Given the description of an element on the screen output the (x, y) to click on. 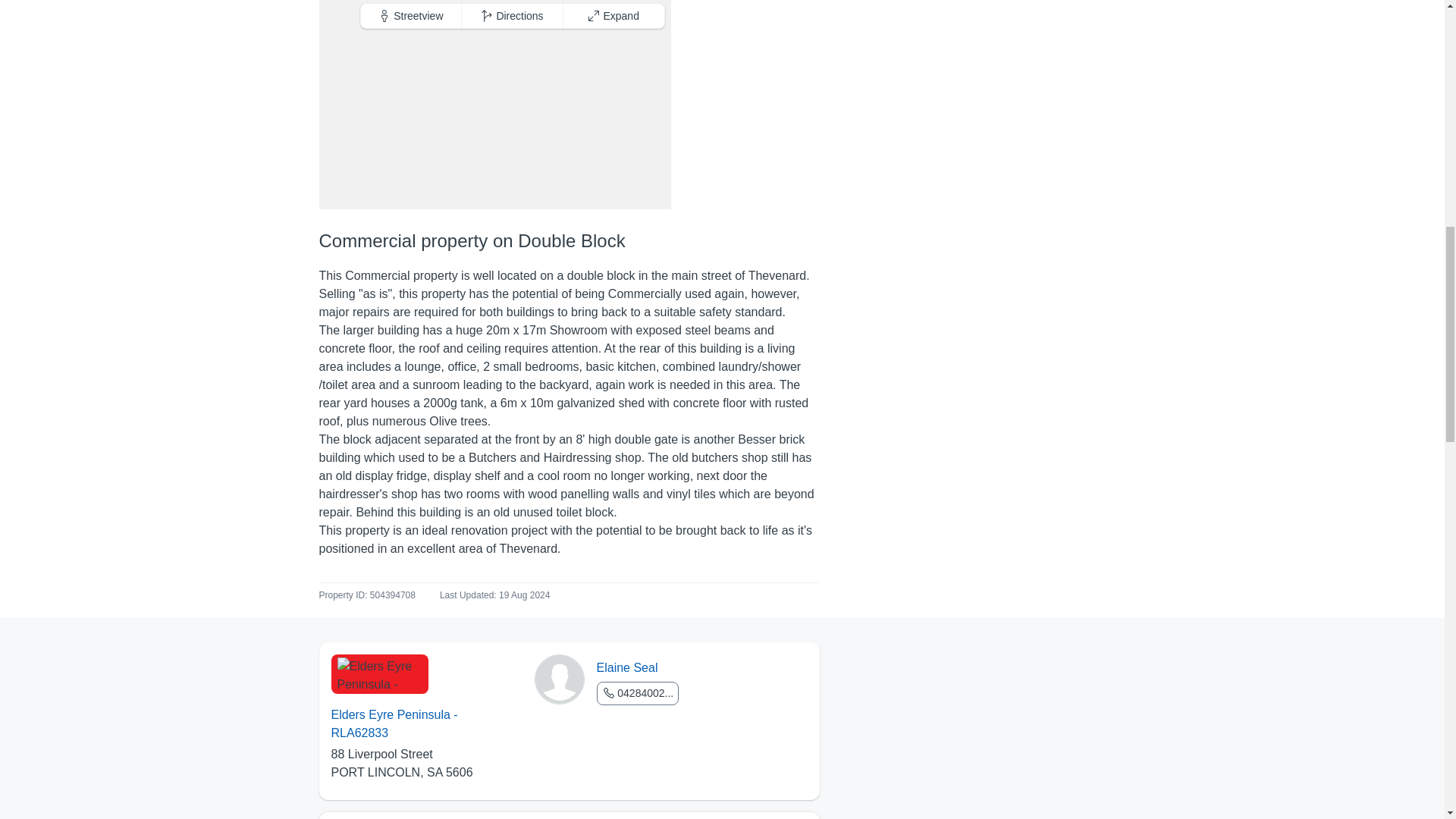
Directions (512, 15)
Streetview (412, 15)
Expand (613, 15)
